Given the description of an element on the screen output the (x, y) to click on. 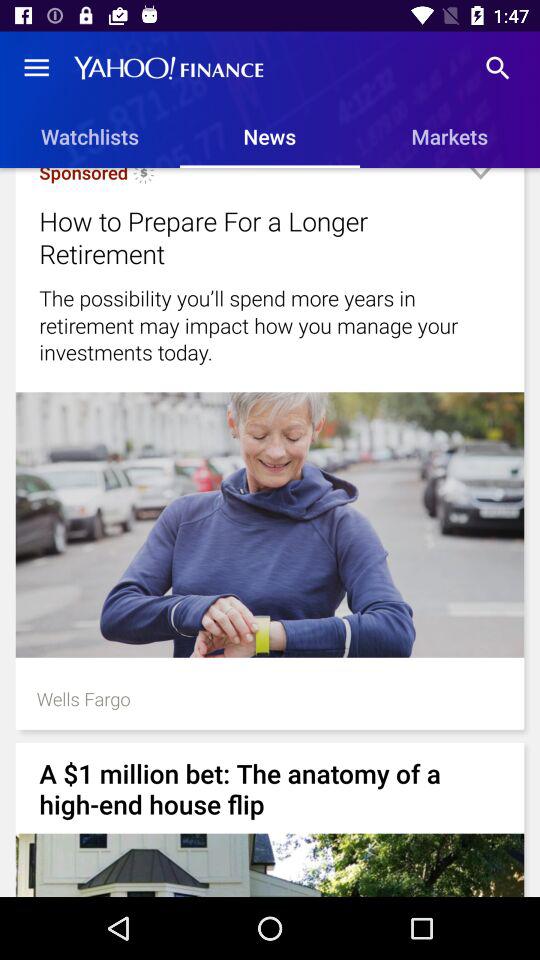
scroll to the sponsored (83, 175)
